Given the description of an element on the screen output the (x, y) to click on. 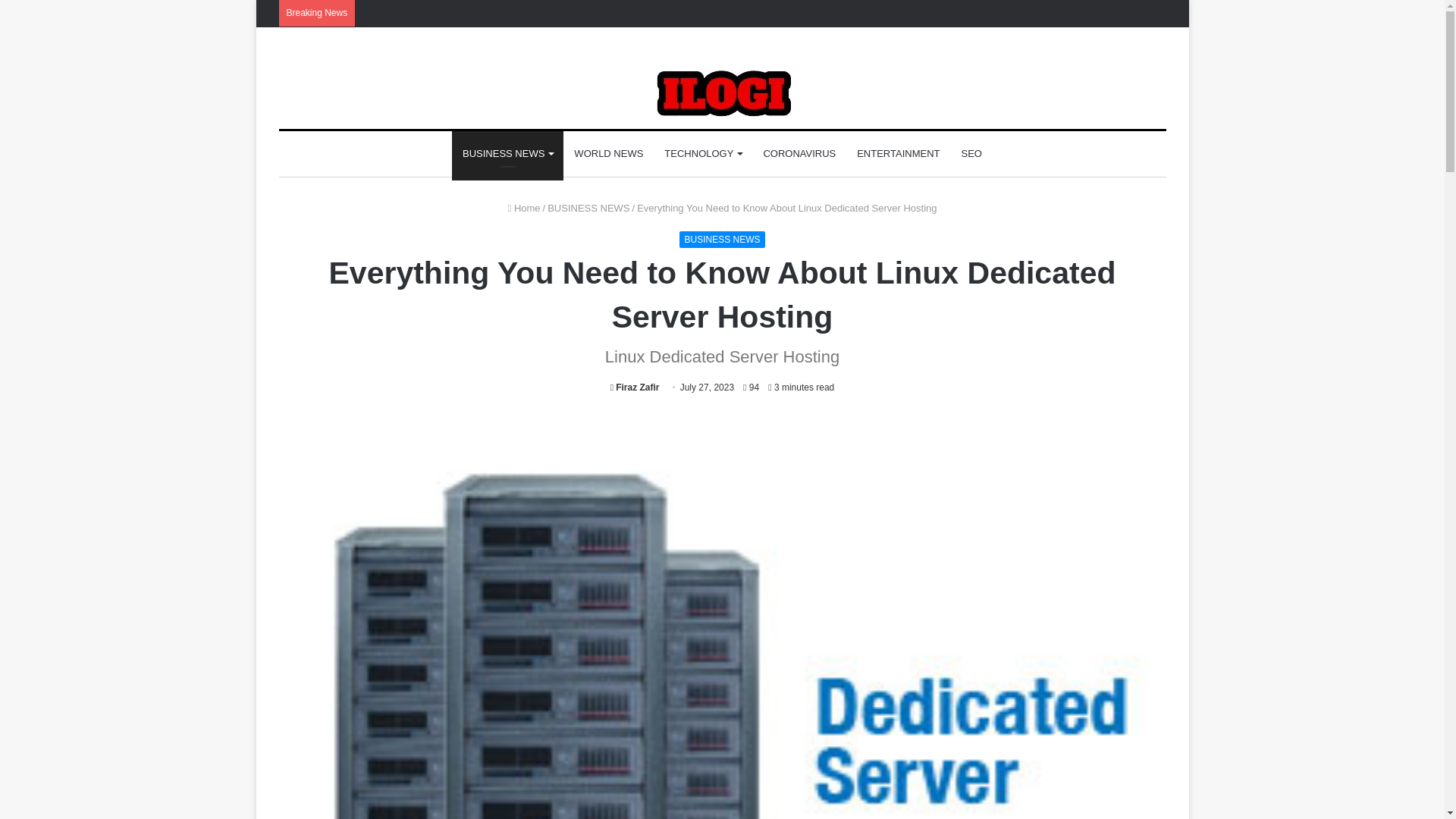
CORONAVIRUS (798, 153)
Home (524, 207)
BUSINESS NEWS (507, 153)
SEO (971, 153)
TECHNOLOGY (702, 153)
Firaz Zafir (634, 387)
BUSINESS NEWS (721, 239)
Firaz Zafir (634, 387)
BUSINESS NEWS (587, 207)
WORLD NEWS (608, 153)
